Given the description of an element on the screen output the (x, y) to click on. 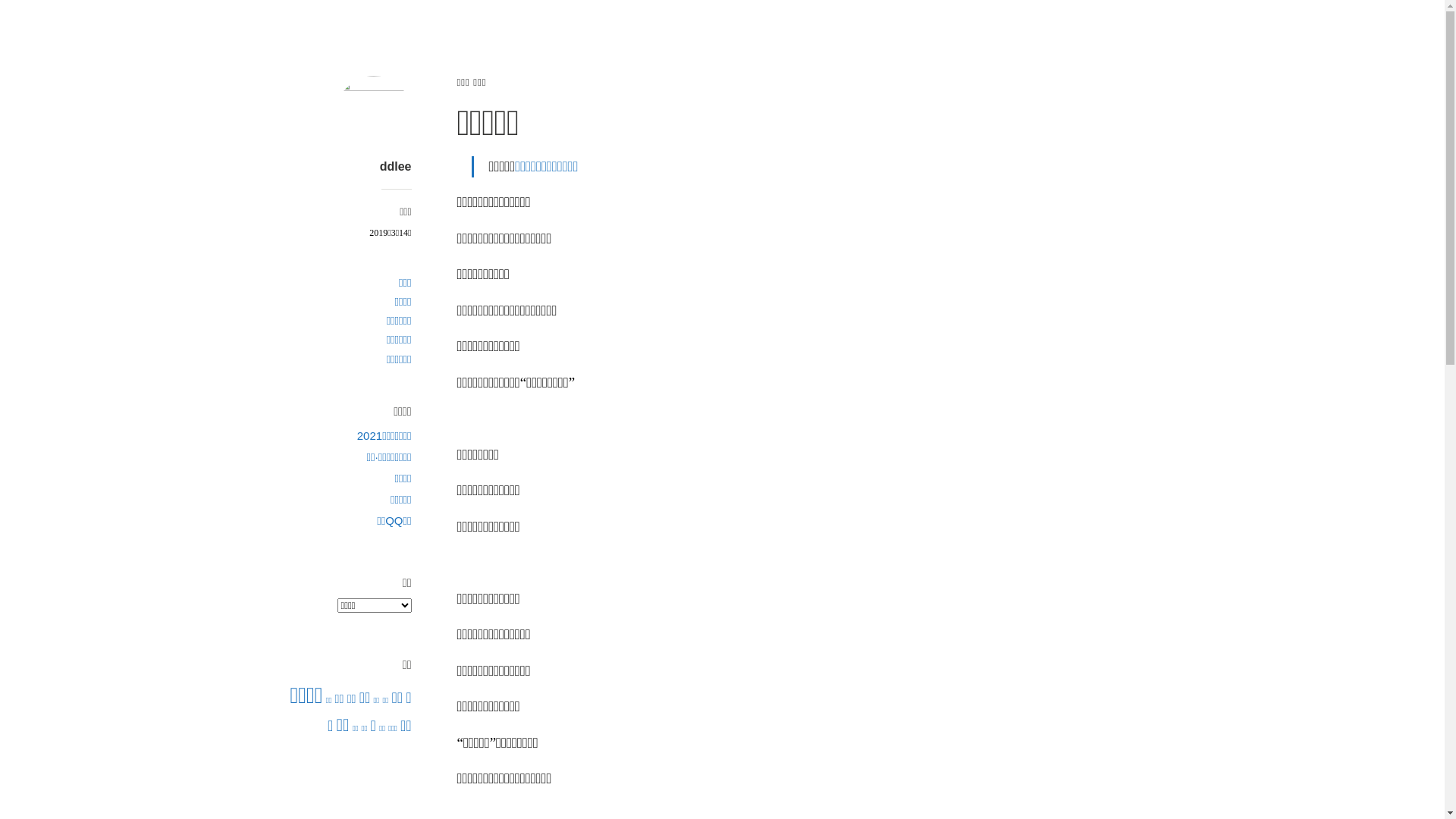
ddlee Element type: text (395, 166)
